Given the description of an element on the screen output the (x, y) to click on. 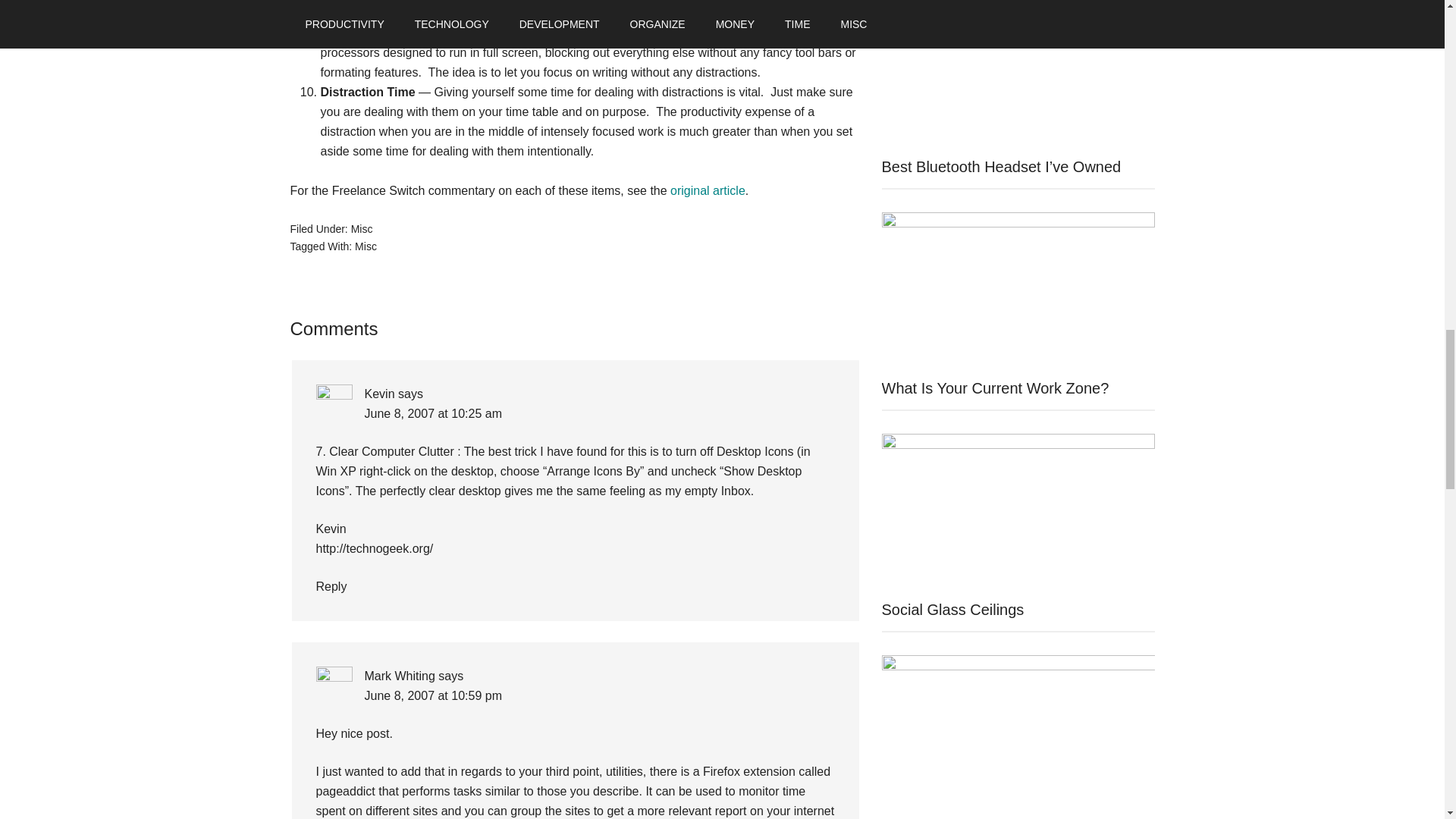
Paradox of Powerful Tools (520, 12)
Kevin (379, 393)
Misc (366, 245)
Misc (361, 228)
original article (707, 190)
